Given the description of an element on the screen output the (x, y) to click on. 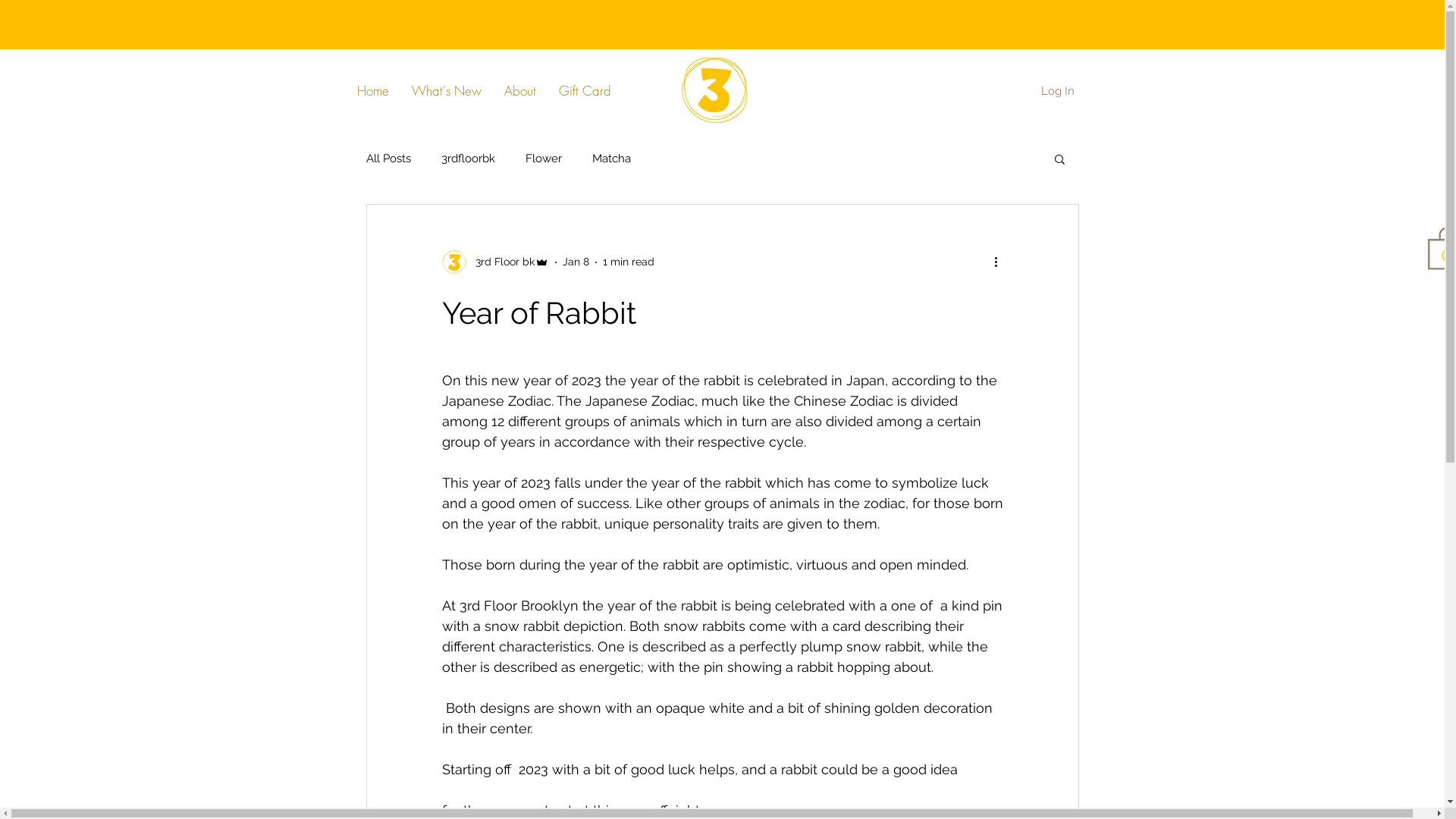
3rd Floor bk Element type: text (494, 262)
What's New Element type: text (446, 90)
About Element type: text (519, 90)
Log In Element type: text (1056, 90)
Gift Card Element type: text (584, 90)
All Posts Element type: text (387, 158)
Home Element type: text (372, 90)
Matcha Element type: text (610, 158)
3rdfloorbk Element type: text (468, 158)
Flower Element type: text (542, 158)
